Given the description of an element on the screen output the (x, y) to click on. 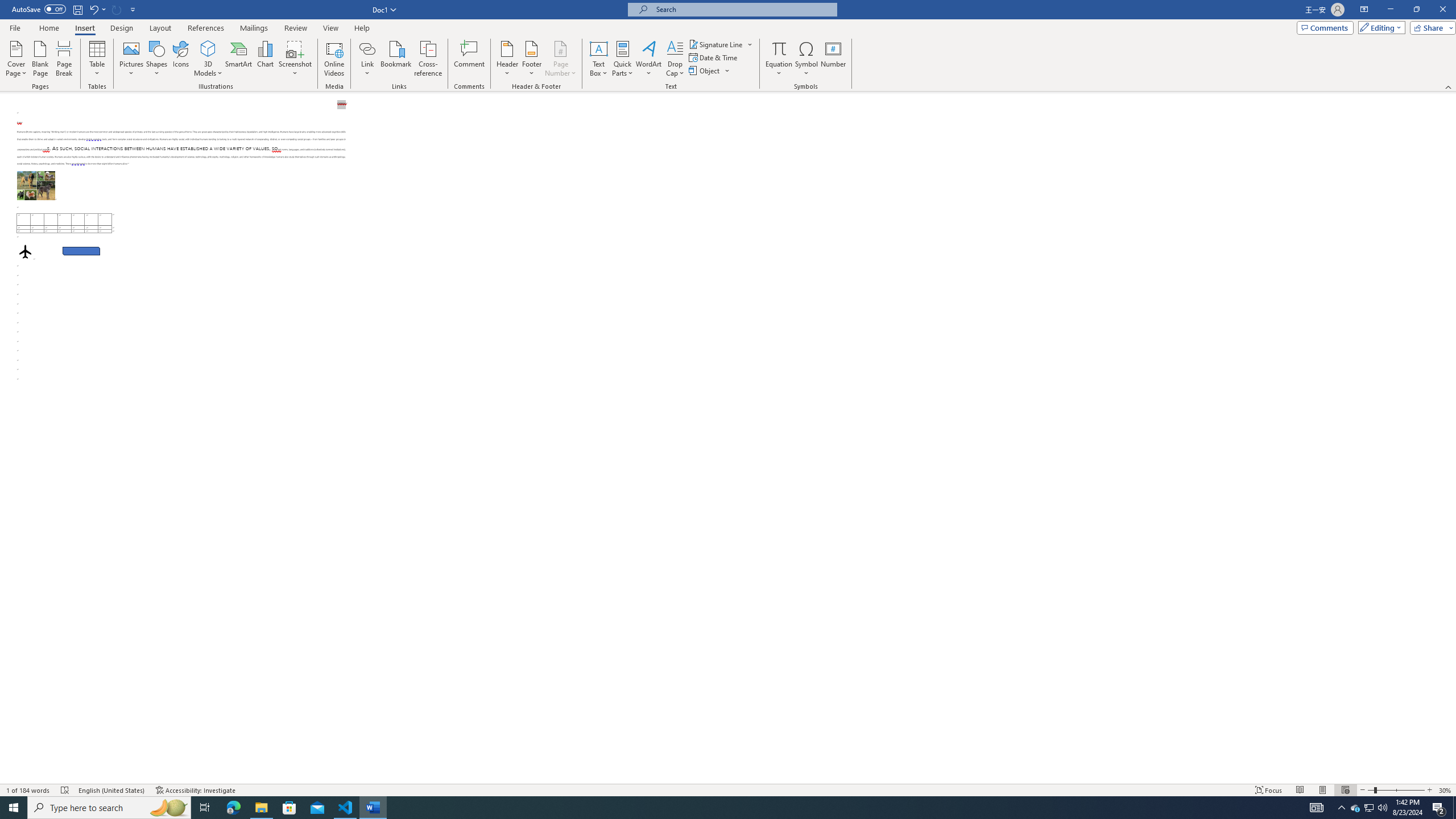
Airplane with solid fill (25, 251)
Blank Page (40, 58)
Word Count 1 of 184 words (28, 790)
3D Models (208, 48)
Link (367, 48)
Cover Page (16, 58)
